Given the description of an element on the screen output the (x, y) to click on. 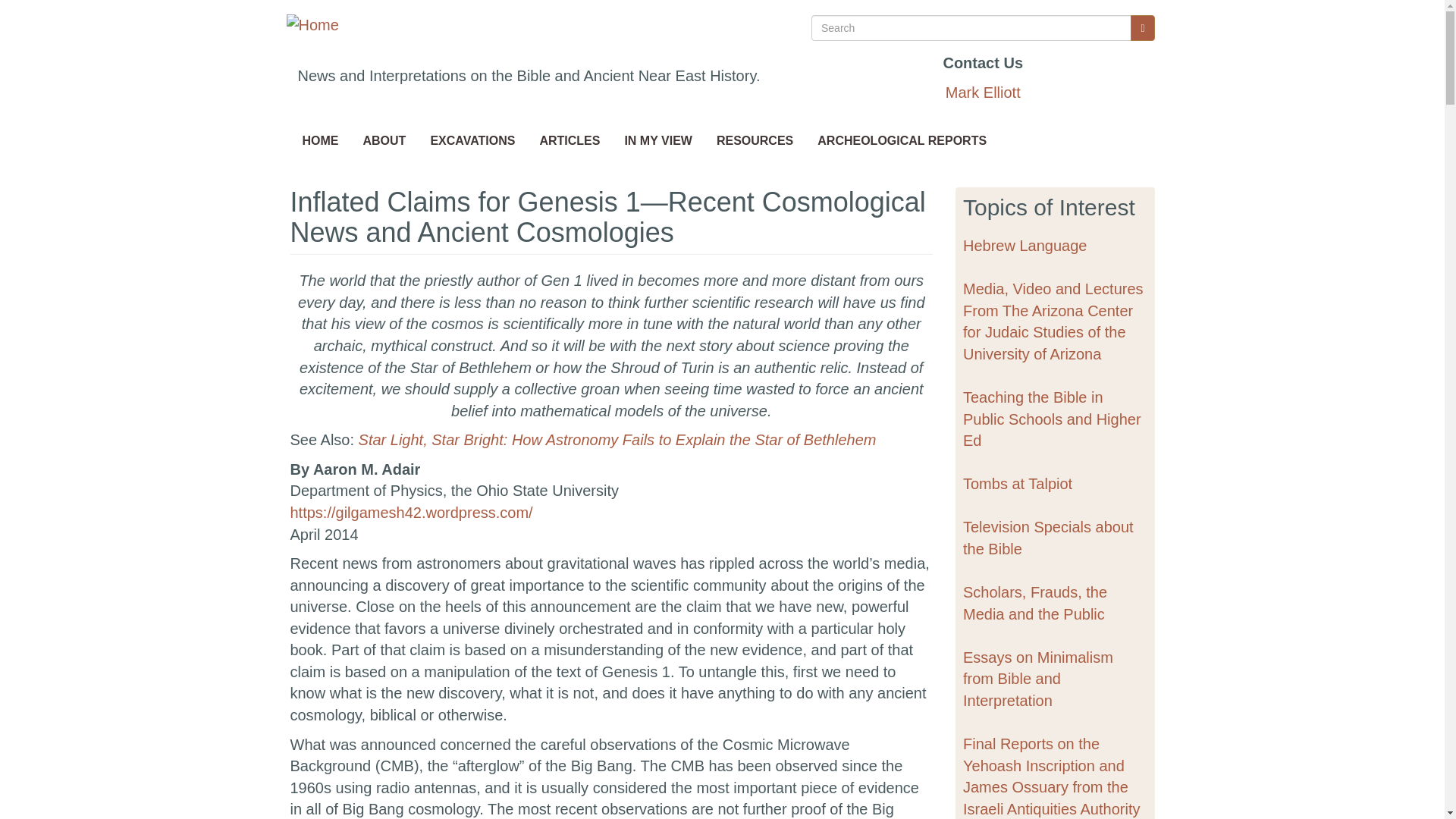
ABOUT (383, 141)
ARTICLES (569, 141)
Enter the terms you wish to search for. (970, 27)
RESOURCES (754, 141)
Mark Elliott (982, 92)
ARCHEOLOGICAL REPORTS (901, 141)
HOME (319, 141)
EXCAVATIONS (472, 141)
Home (312, 30)
Search (1142, 27)
IN MY VIEW (657, 141)
